Given the description of an element on the screen output the (x, y) to click on. 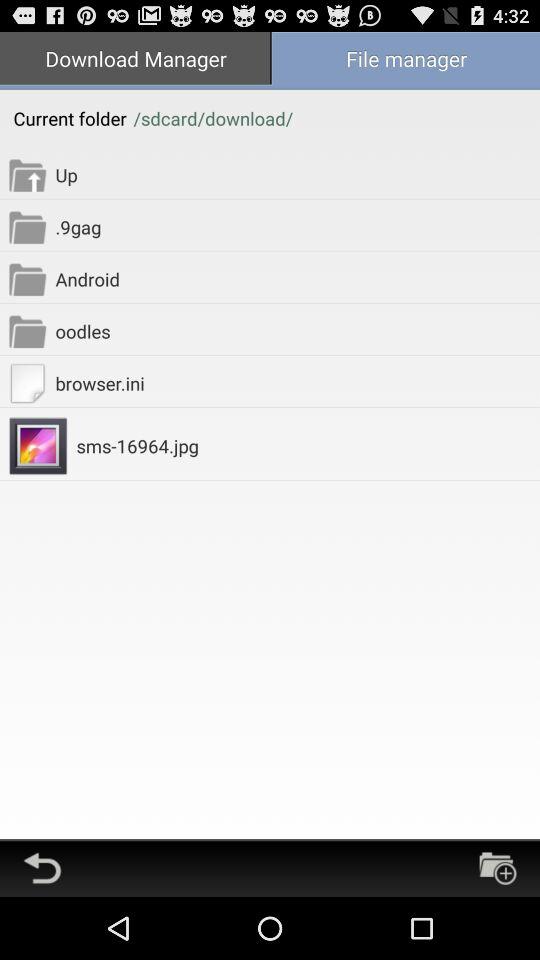
jump to the .9gag app (297, 226)
